Given the description of an element on the screen output the (x, y) to click on. 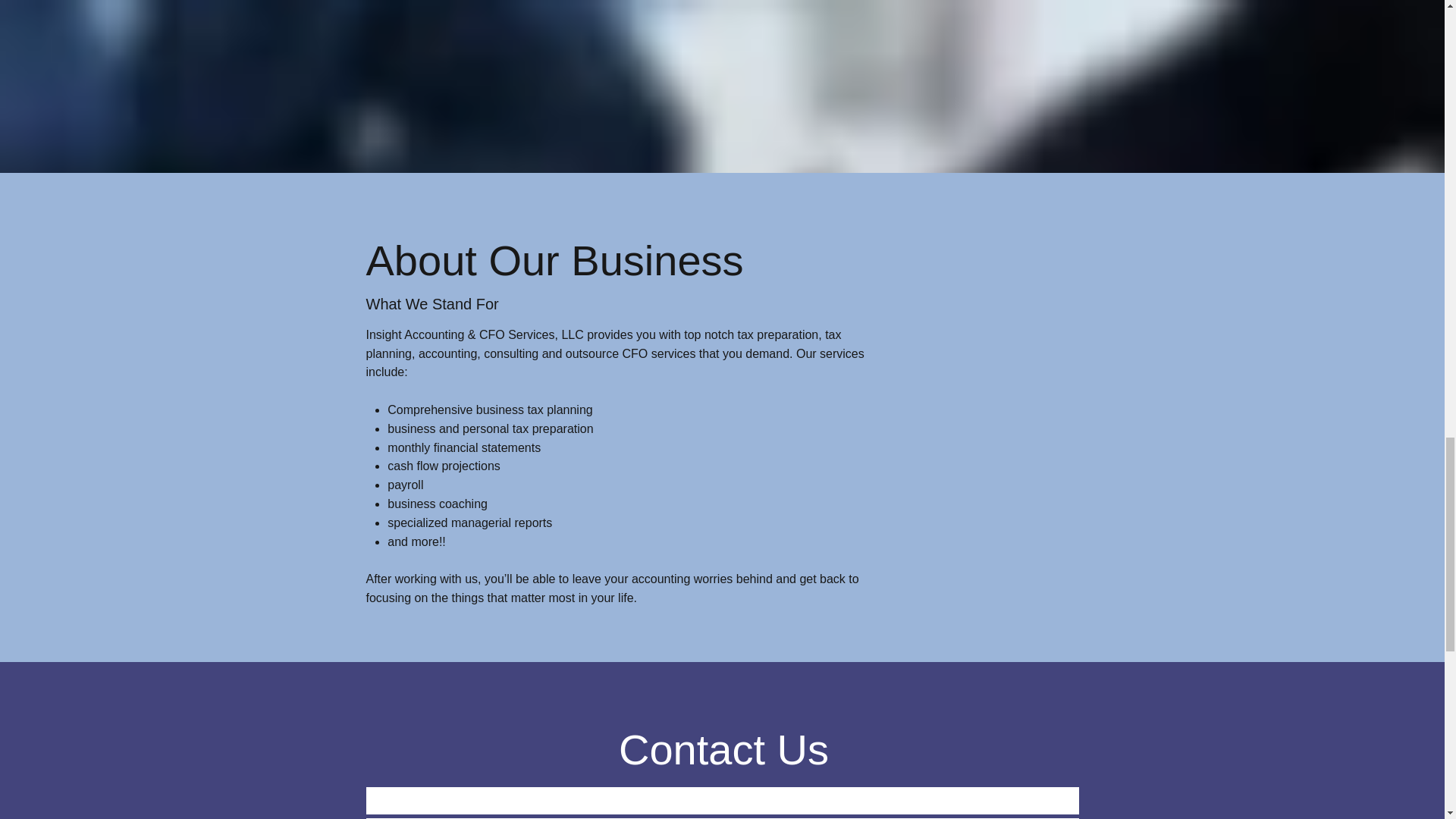
About Our Business (553, 260)
